Given the description of an element on the screen output the (x, y) to click on. 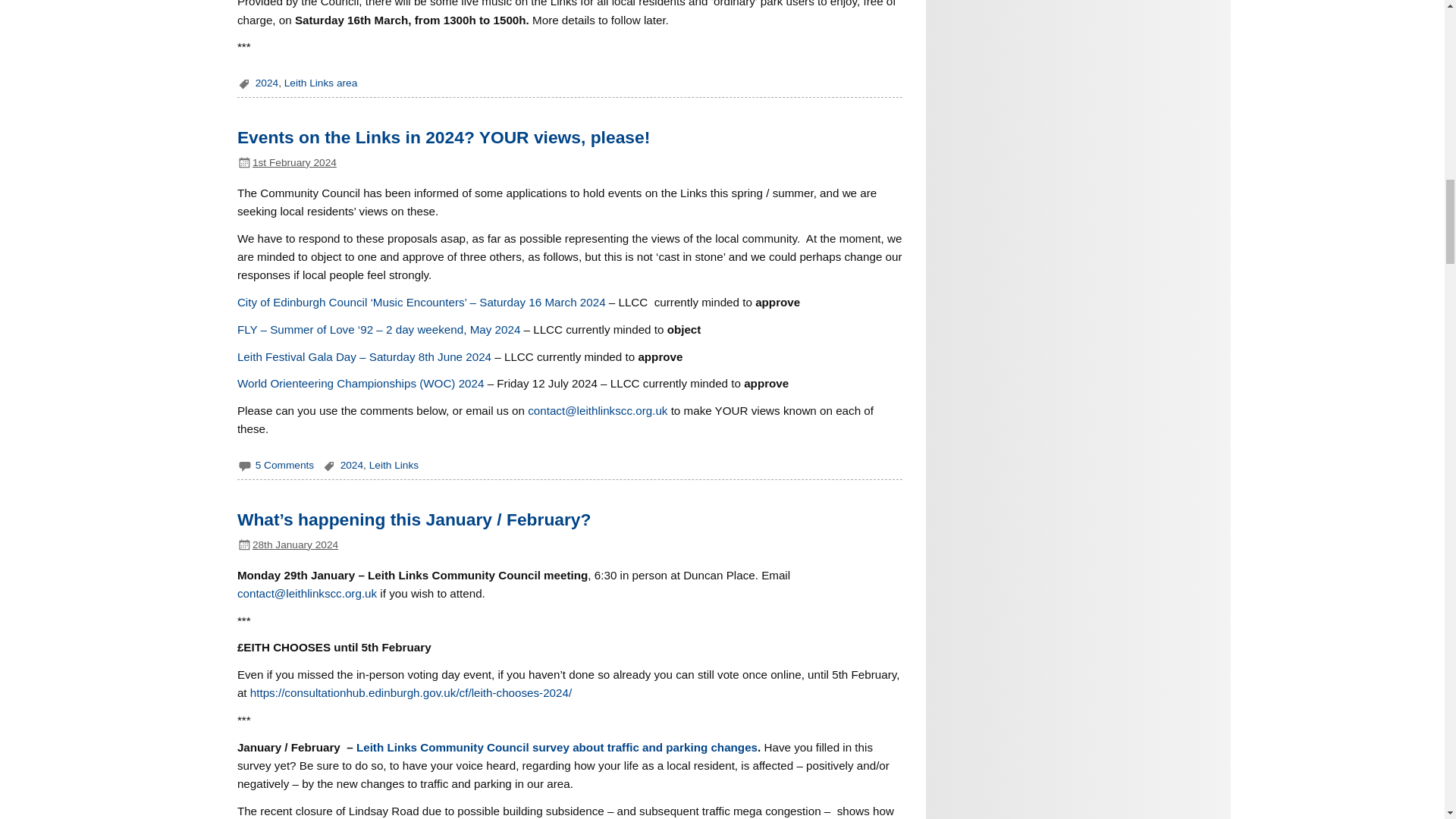
6:51 PM (294, 544)
3:44 PM (293, 162)
